Given the description of an element on the screen output the (x, y) to click on. 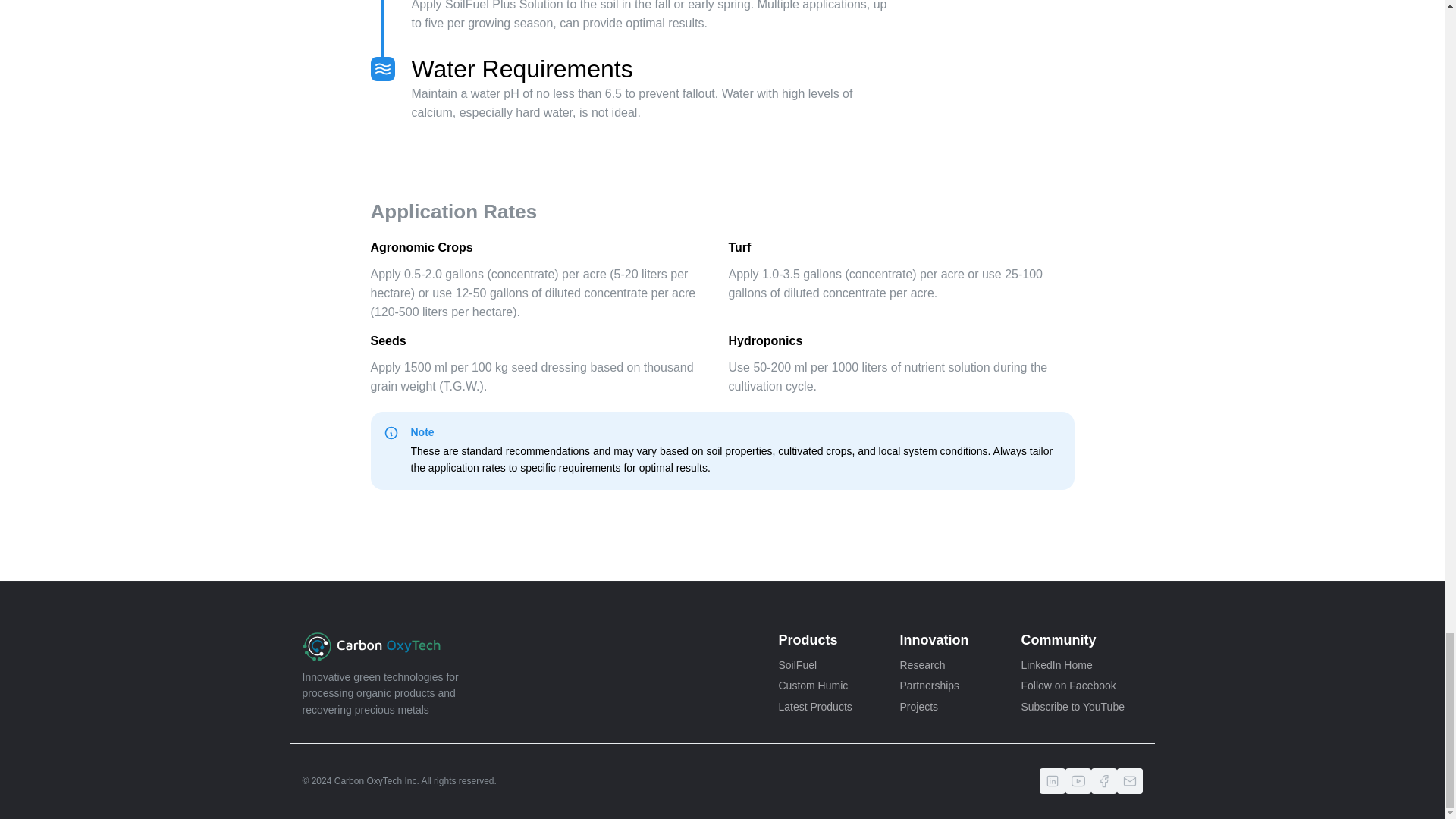
Custom Humic (838, 685)
SoilFuel (838, 665)
Follow on Facebook (1080, 685)
Subscribe to YouTube (1080, 707)
Research (959, 665)
Projects (959, 707)
Latest Products (838, 707)
Partnerships (959, 685)
LinkedIn Home (1080, 665)
